Given the description of an element on the screen output the (x, y) to click on. 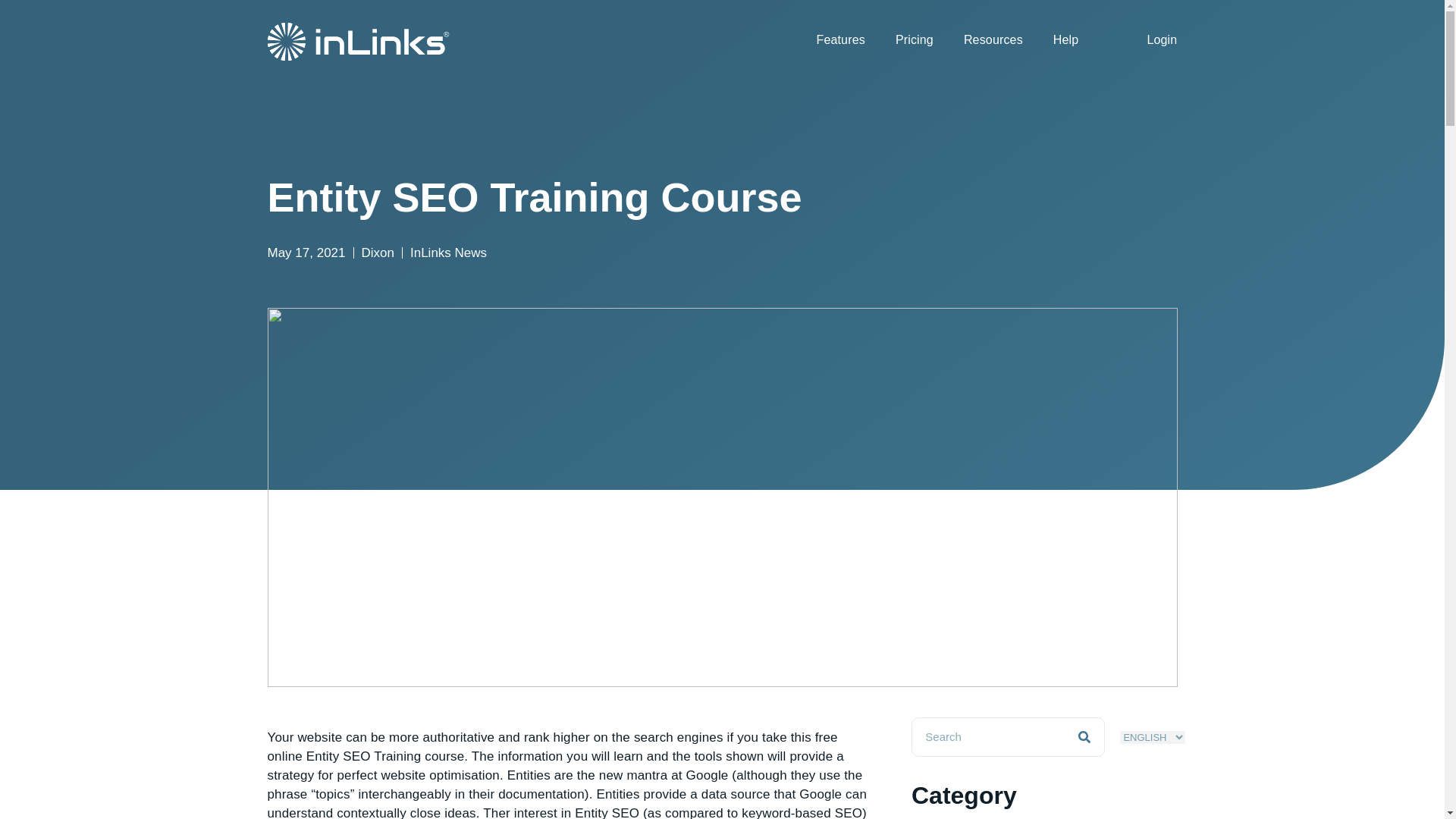
Resources (993, 39)
Pricing (914, 39)
Features (839, 39)
Help (1066, 39)
Login (1153, 39)
